Given the description of an element on the screen output the (x, y) to click on. 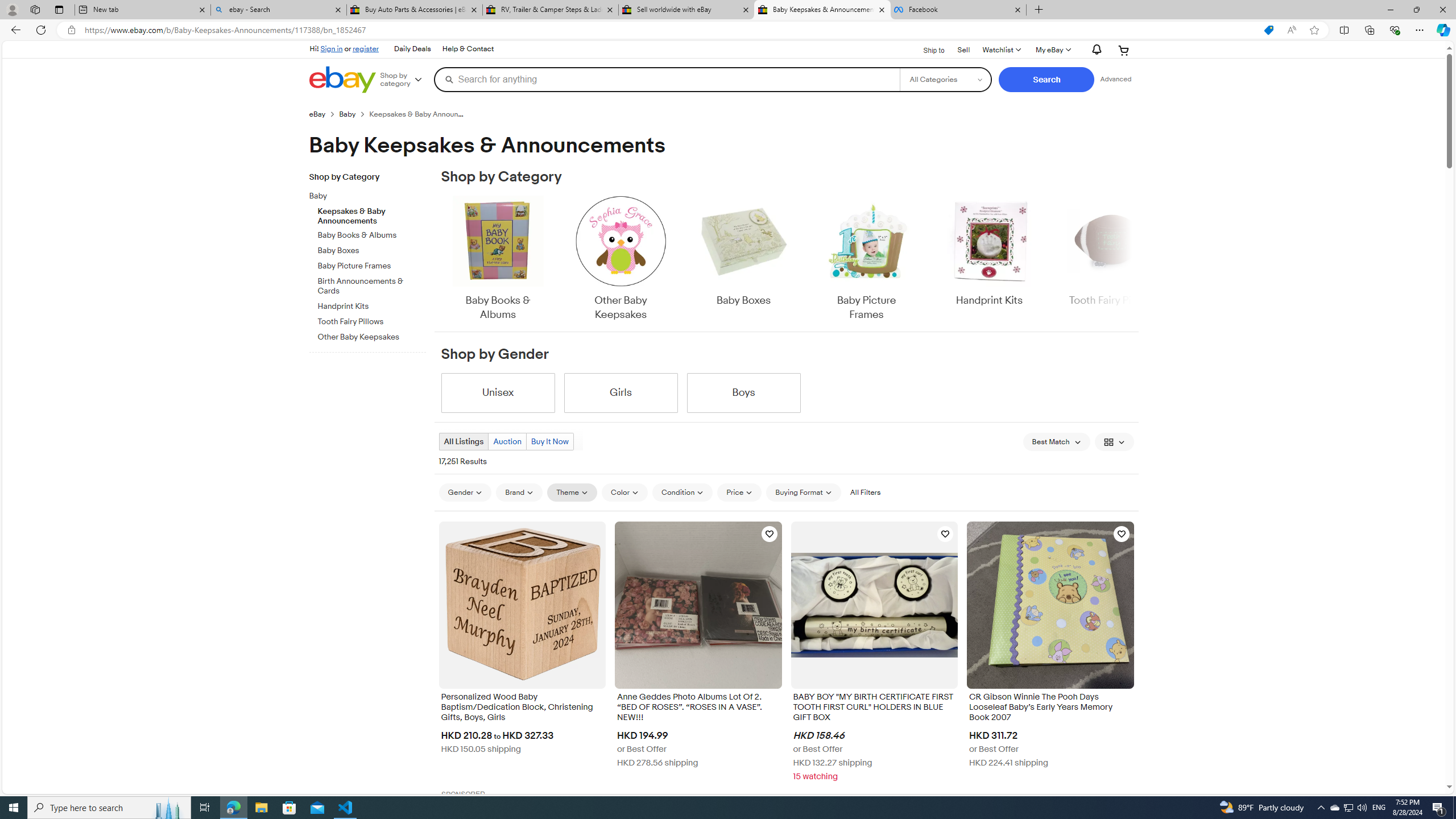
Baby Keepsakes & Announcements for sale | eBay (822, 9)
Birth Announcements & Cards (371, 286)
Ship to (926, 50)
Handprint Kits (988, 251)
Baby Boxes (742, 251)
Daily Deals (412, 49)
Daily Deals (411, 49)
eBay (317, 113)
Condition (682, 492)
Handprint Kits (988, 258)
Color (624, 492)
